Given the description of an element on the screen output the (x, y) to click on. 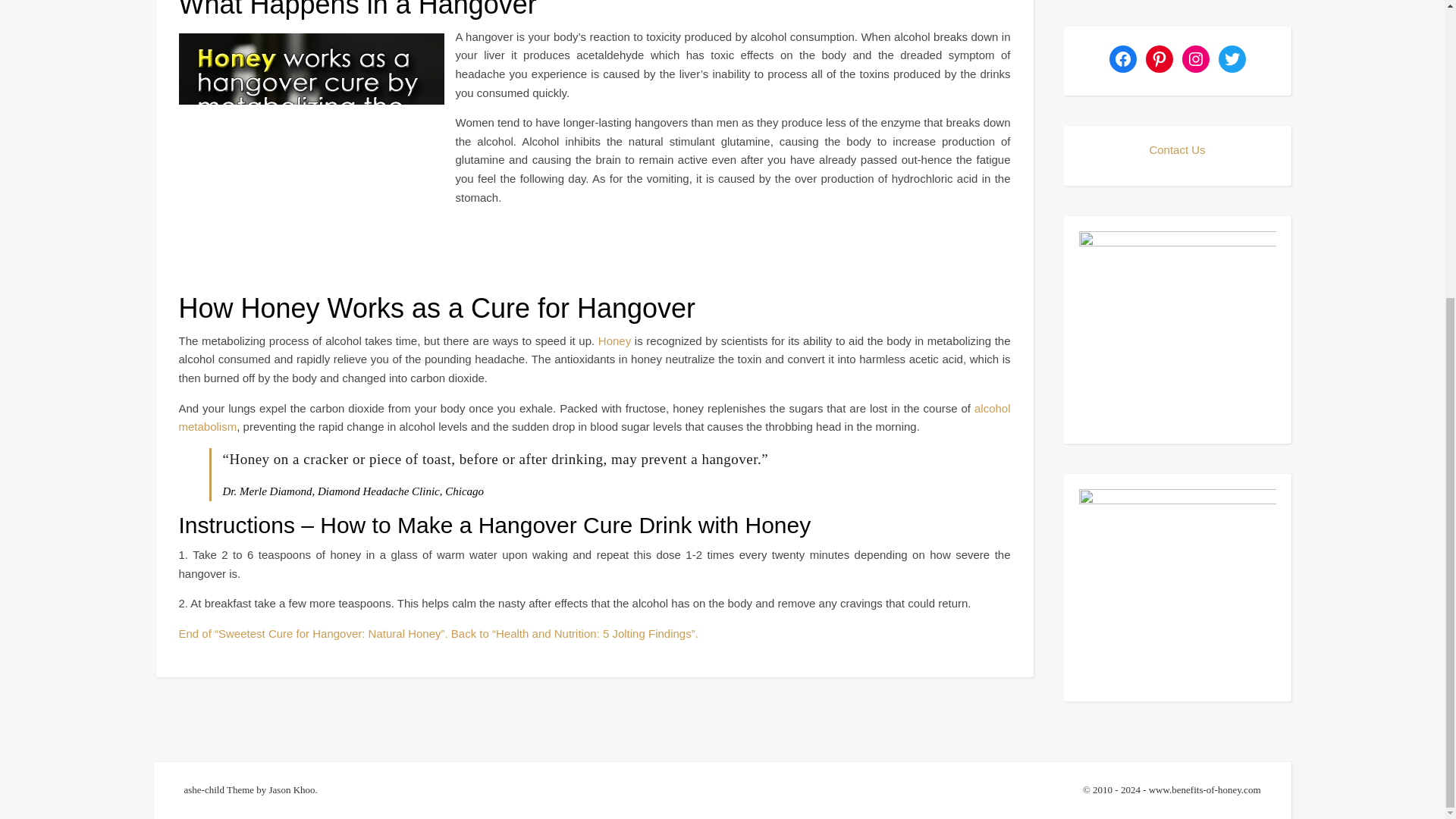
Facebook (1121, 58)
Honey (614, 340)
Instagram (1194, 58)
Jason Khoo (292, 789)
Contact Us (1176, 149)
Pinterest (1158, 58)
alcohol metabolism (594, 418)
Twitter (1230, 58)
